Given the description of an element on the screen output the (x, y) to click on. 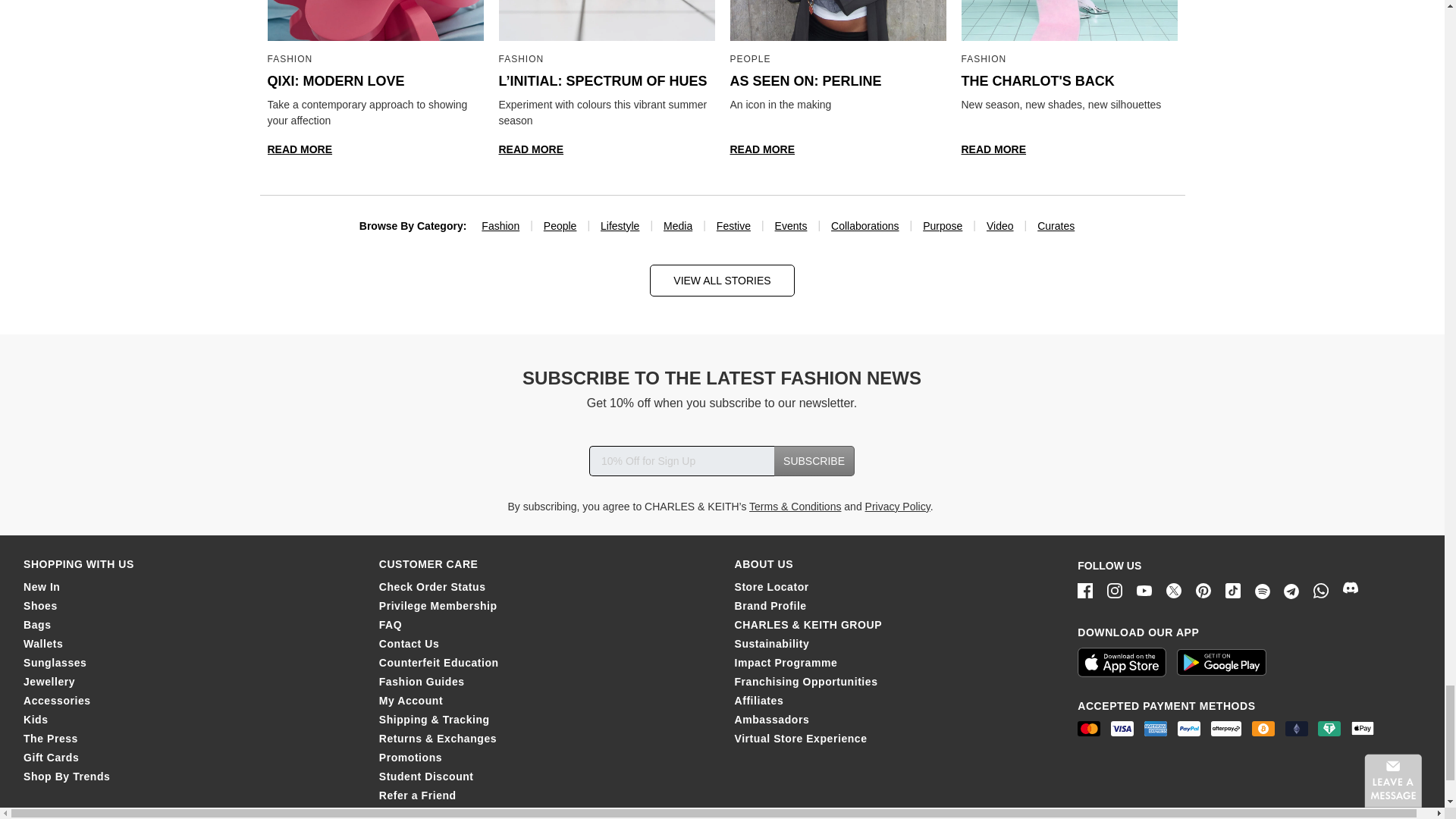
Shoes (40, 605)
New In (41, 586)
Accessories (56, 700)
Bags (36, 624)
Jewellery (49, 681)
Wallets (42, 644)
Sunglasses (54, 662)
